Given the description of an element on the screen output the (x, y) to click on. 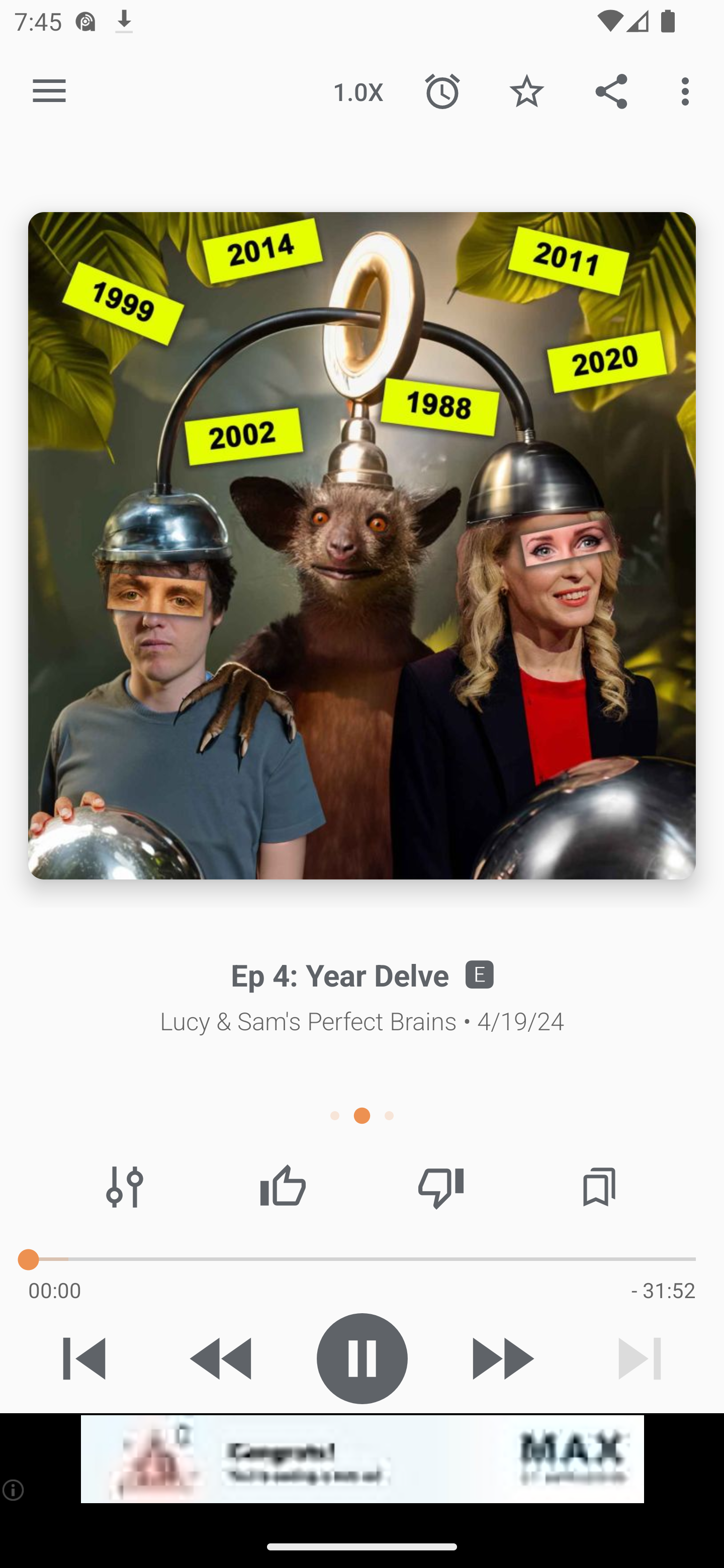
Open navigation sidebar (49, 91)
1.0X (357, 90)
Sleep Timer (442, 90)
Favorite (526, 90)
Share (611, 90)
More options (688, 90)
Episode description (361, 545)
Audio effects (124, 1186)
Thumbs up (283, 1186)
Thumbs down (440, 1186)
Chapters / Bookmarks (598, 1186)
- 31:52 (663, 1289)
Previous track (84, 1358)
Skip 15s backward (222, 1358)
Play / Pause (362, 1358)
Skip 30s forward (500, 1358)
Next track (639, 1358)
